Given the description of an element on the screen output the (x, y) to click on. 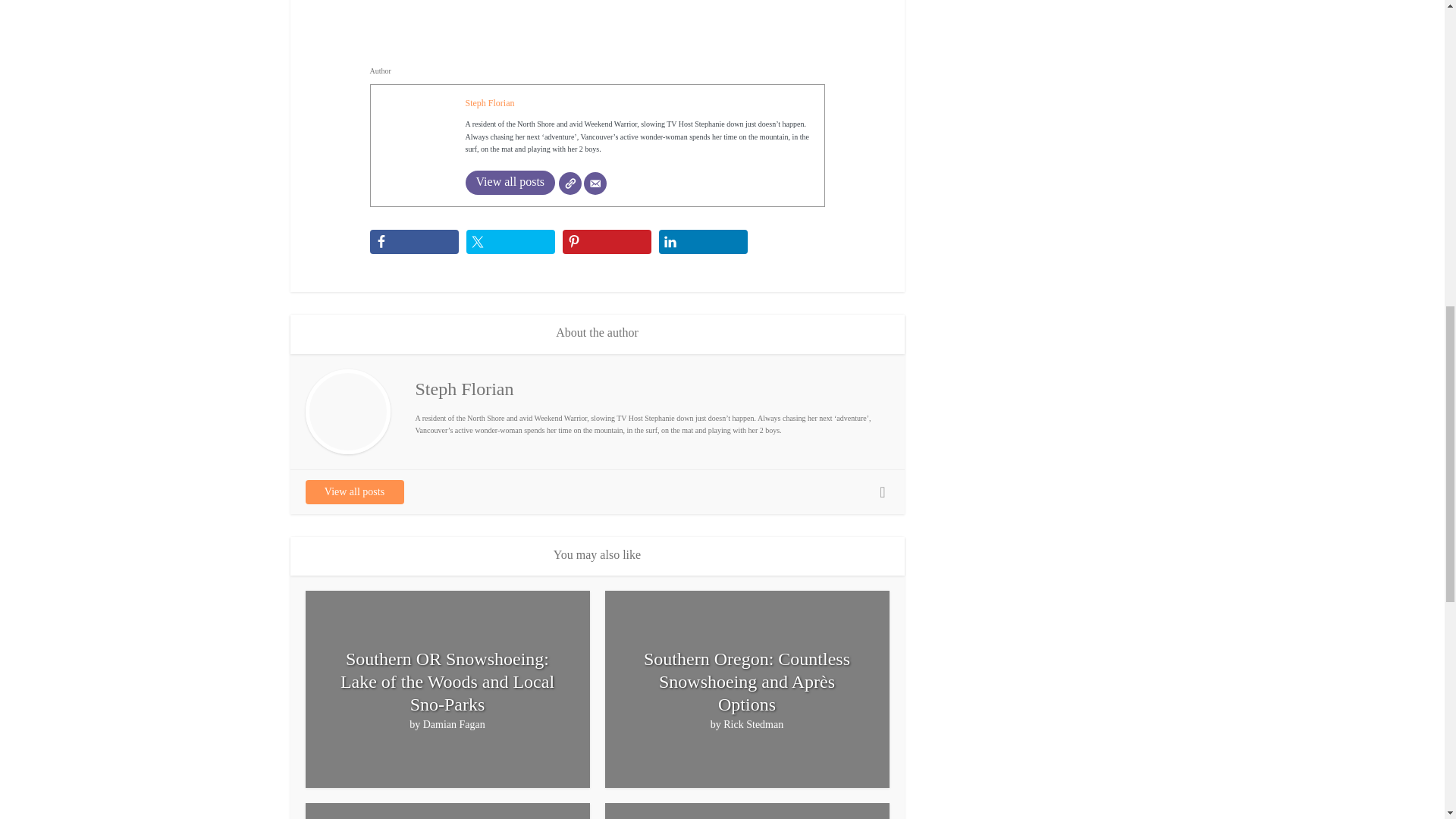
Share on Twitter (509, 241)
Share on Facebook (413, 241)
Share on LinkedIn (702, 241)
Whistler Cornucopia 2014 - By Night (597, 20)
View all posts (510, 182)
Steph Florian (490, 102)
Share on Pinterest (606, 241)
Steph Florian (490, 102)
